Given the description of an element on the screen output the (x, y) to click on. 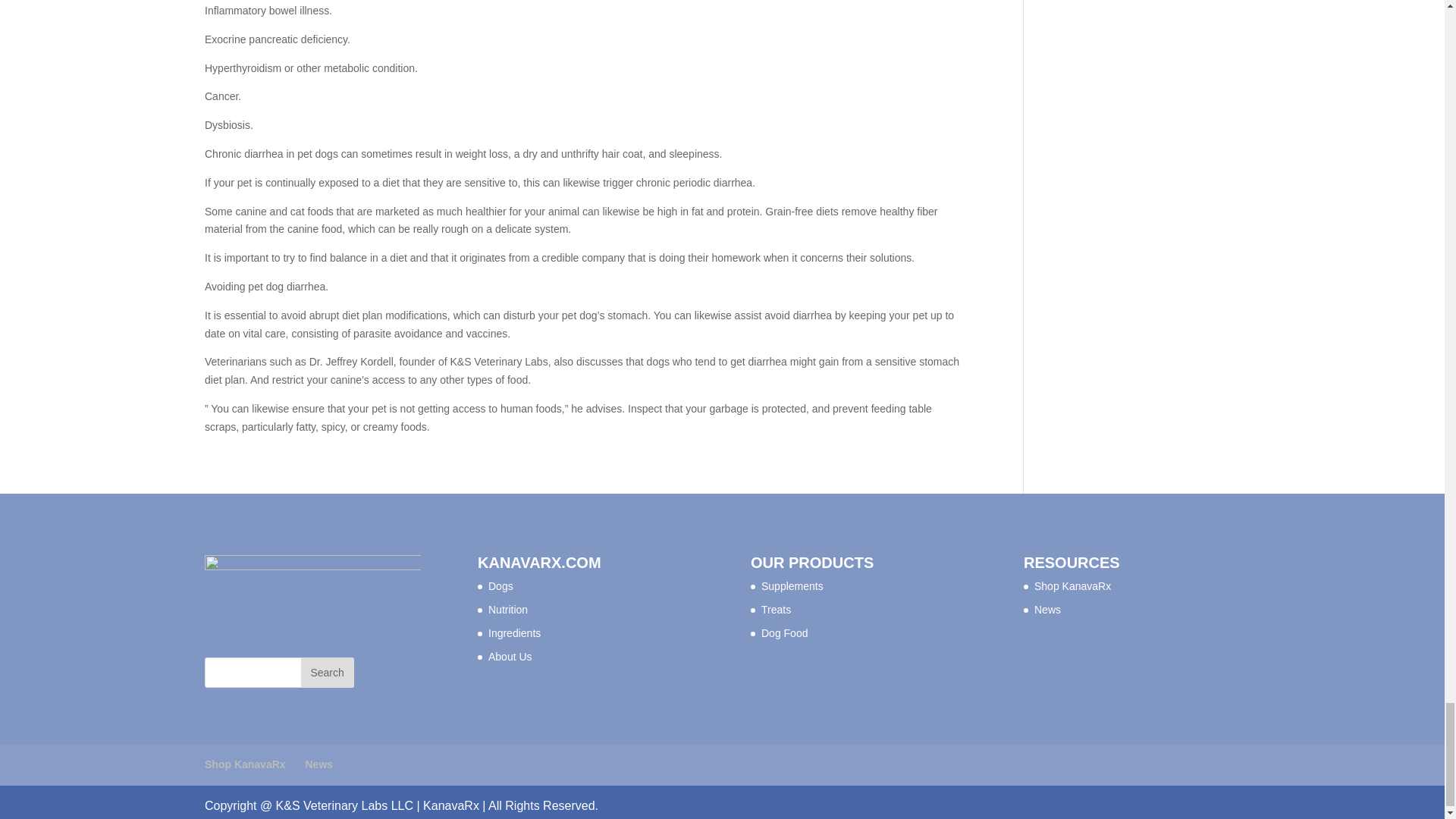
Search (327, 672)
Dogs (500, 585)
Search (327, 672)
